Given the description of an element on the screen output the (x, y) to click on. 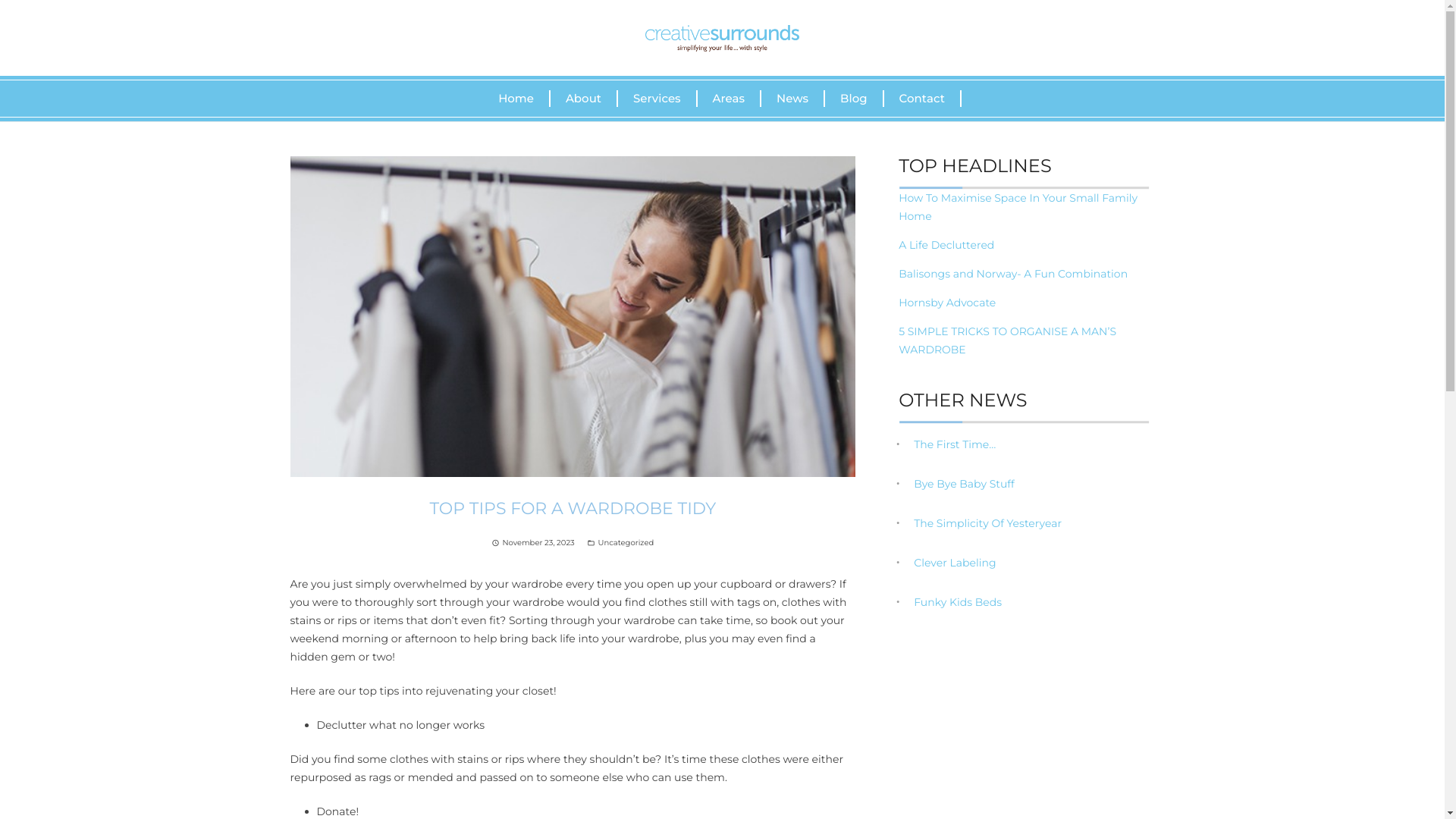
Blog Element type: text (854, 98)
Contact Element type: text (922, 98)
CALL US: 0415 143 498 Element type: text (1085, 36)
Uncategorized Element type: text (625, 542)
Areas Element type: text (729, 98)
The Simplicity Of Yesteryear Element type: text (987, 523)
Home Element type: text (516, 98)
Bye Bye Baby Stuff Element type: text (963, 483)
Balisongs and Norway- A Fun Combination Element type: text (1012, 273)
A Life Decluttered Element type: text (946, 244)
News Element type: text (793, 98)
How To Maximise Space In Your Small Family Home Element type: text (1017, 206)
Services Element type: text (657, 98)
About Element type: text (584, 98)
Hornsby Advocate Element type: text (946, 302)
Clever Labeling Element type: text (954, 562)
Funky Kids Beds Element type: text (957, 601)
